Given the description of an element on the screen output the (x, y) to click on. 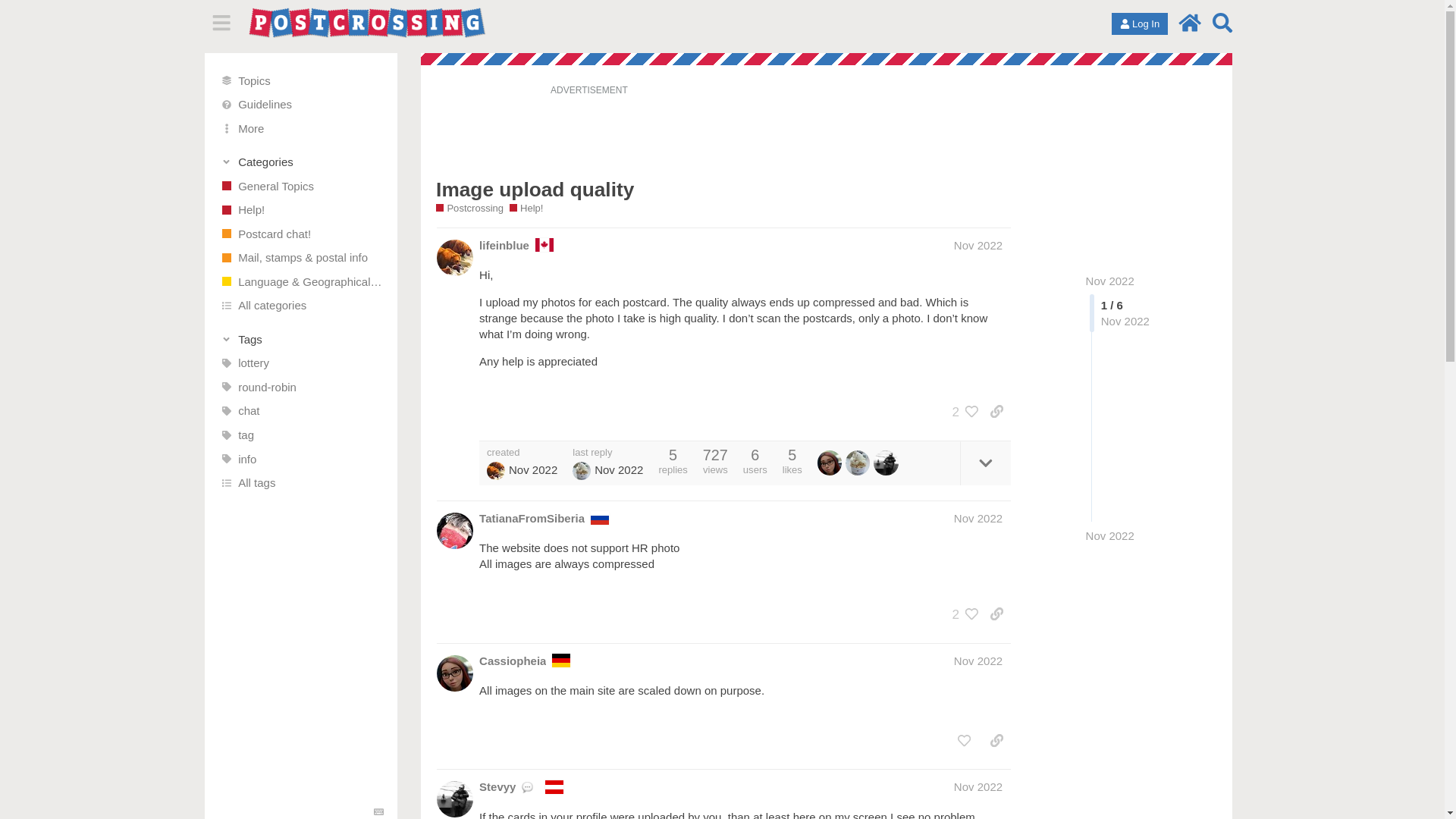
A place to discuss in your own language. (301, 282)
tag (301, 435)
round-robin (301, 387)
Log In (1139, 24)
2 (961, 411)
All about postcards, our favorite medium of communication. (301, 233)
Help! (526, 208)
Sidebar (221, 22)
chat (301, 410)
Image upload quality (534, 189)
lifeinblue (504, 245)
General Topics (301, 185)
Win a card or something else (301, 363)
Toggle section (301, 338)
